Given the description of an element on the screen output the (x, y) to click on. 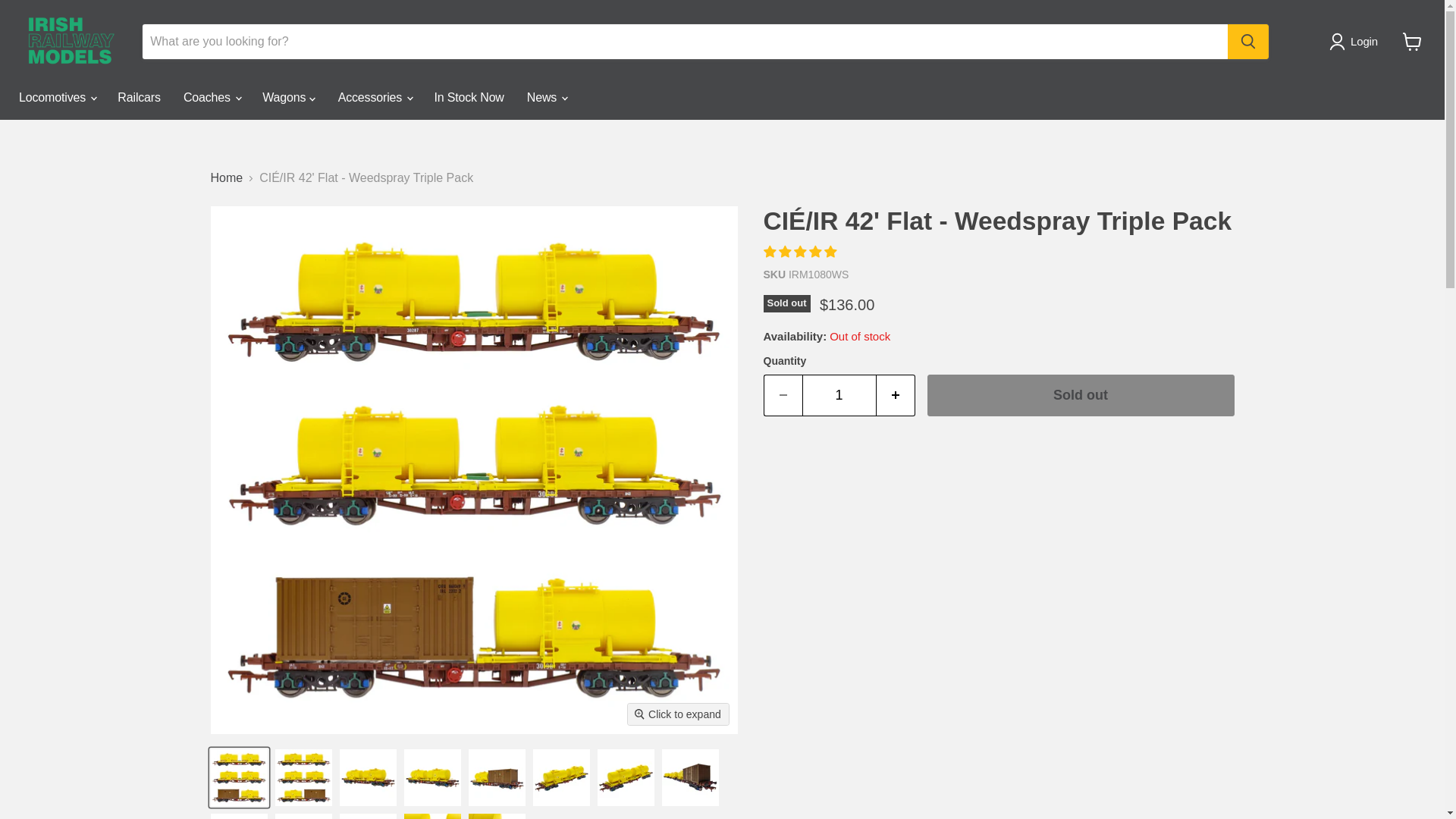
View cart (1411, 41)
Login (1356, 41)
Railcars (138, 97)
1 (839, 395)
